Given the description of an element on the screen output the (x, y) to click on. 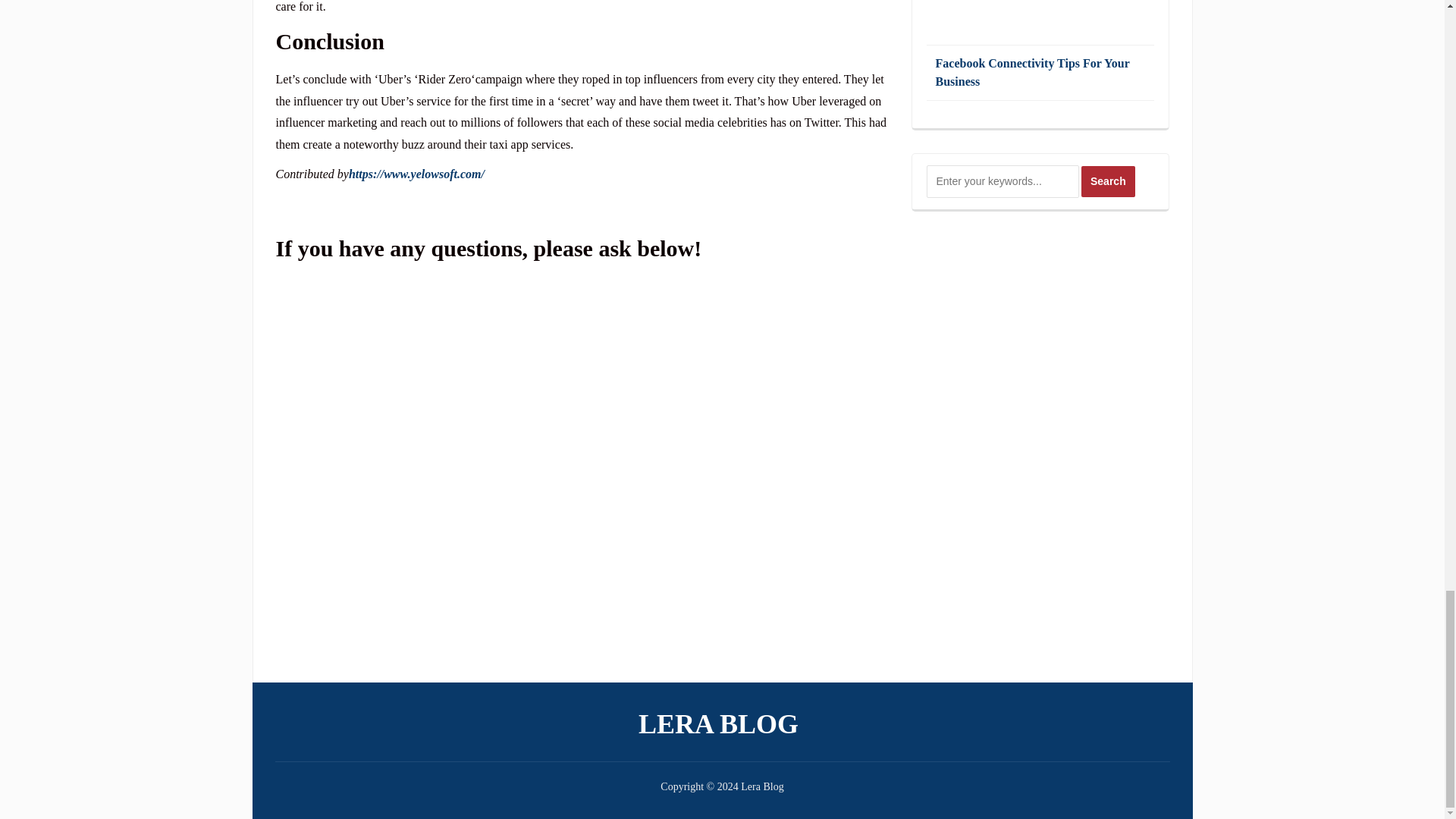
Search (1108, 181)
Search (1108, 181)
